Given the description of an element on the screen output the (x, y) to click on. 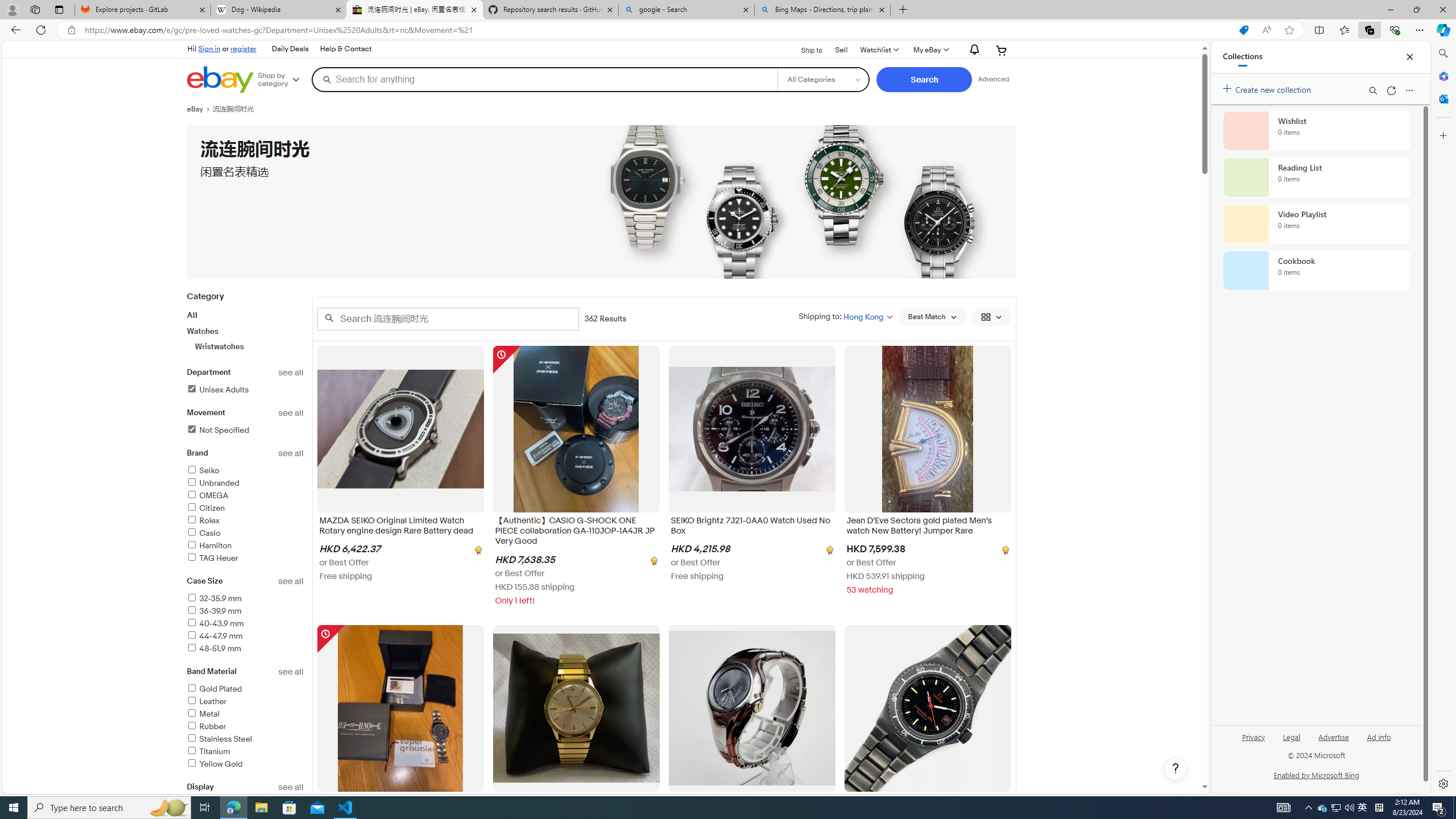
Unbranded (245, 483)
Wristwatches (249, 346)
Your shopping cart (1001, 49)
CategoryAllWatchesWristwatches (245, 327)
Reading List collection, 0 items (1316, 177)
Rolex (245, 520)
More options menu (1409, 90)
OMEGA (207, 495)
SEIKO Brightz 7J21-0AA0 Watch Used No Box (751, 527)
Video Playlist collection, 0 items (1316, 223)
Settings (1442, 783)
Enter your search keyword (448, 318)
